Given the description of an element on the screen output the (x, y) to click on. 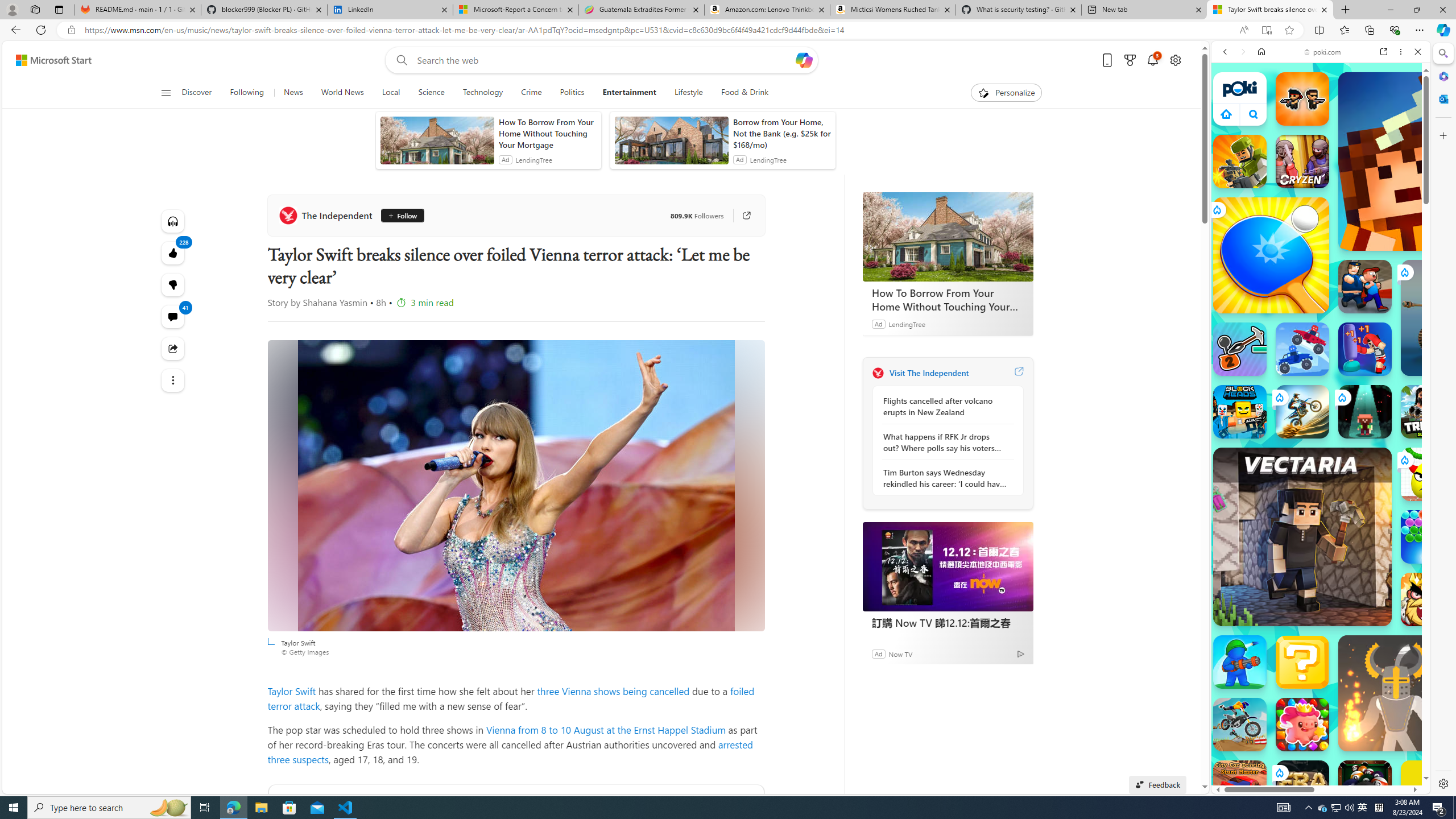
Ping Pong Go! (1270, 255)
Ping Pong Go! (1270, 255)
Search results from poki.com (1299, 443)
Games for Girls (1320, 407)
Bubble Shooter Bubble Shooter (1427, 536)
Io Games (1320, 350)
Vectaria.io Vectaria.io (1301, 536)
Show More Car Games (1390, 268)
